Given the description of an element on the screen output the (x, y) to click on. 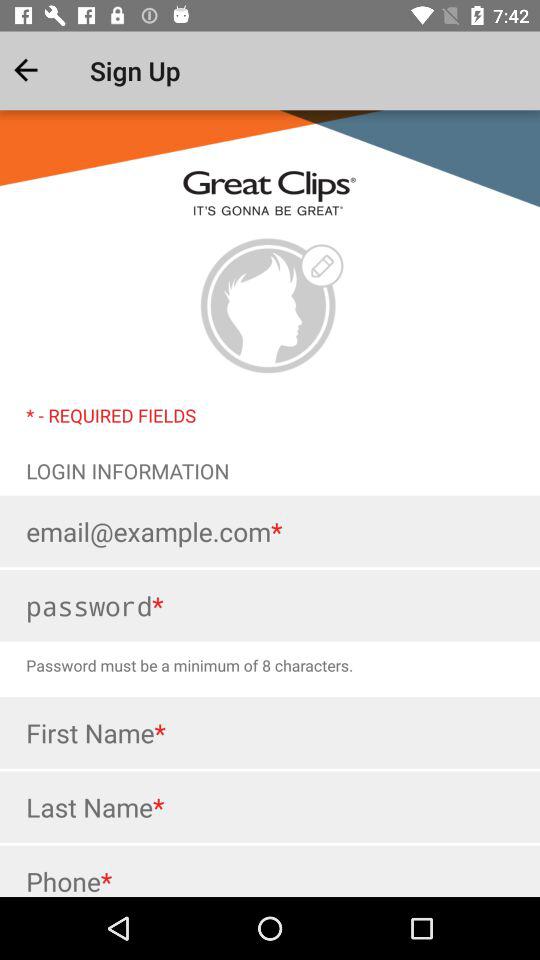
choose the item to the left of sign up (42, 70)
